Given the description of an element on the screen output the (x, y) to click on. 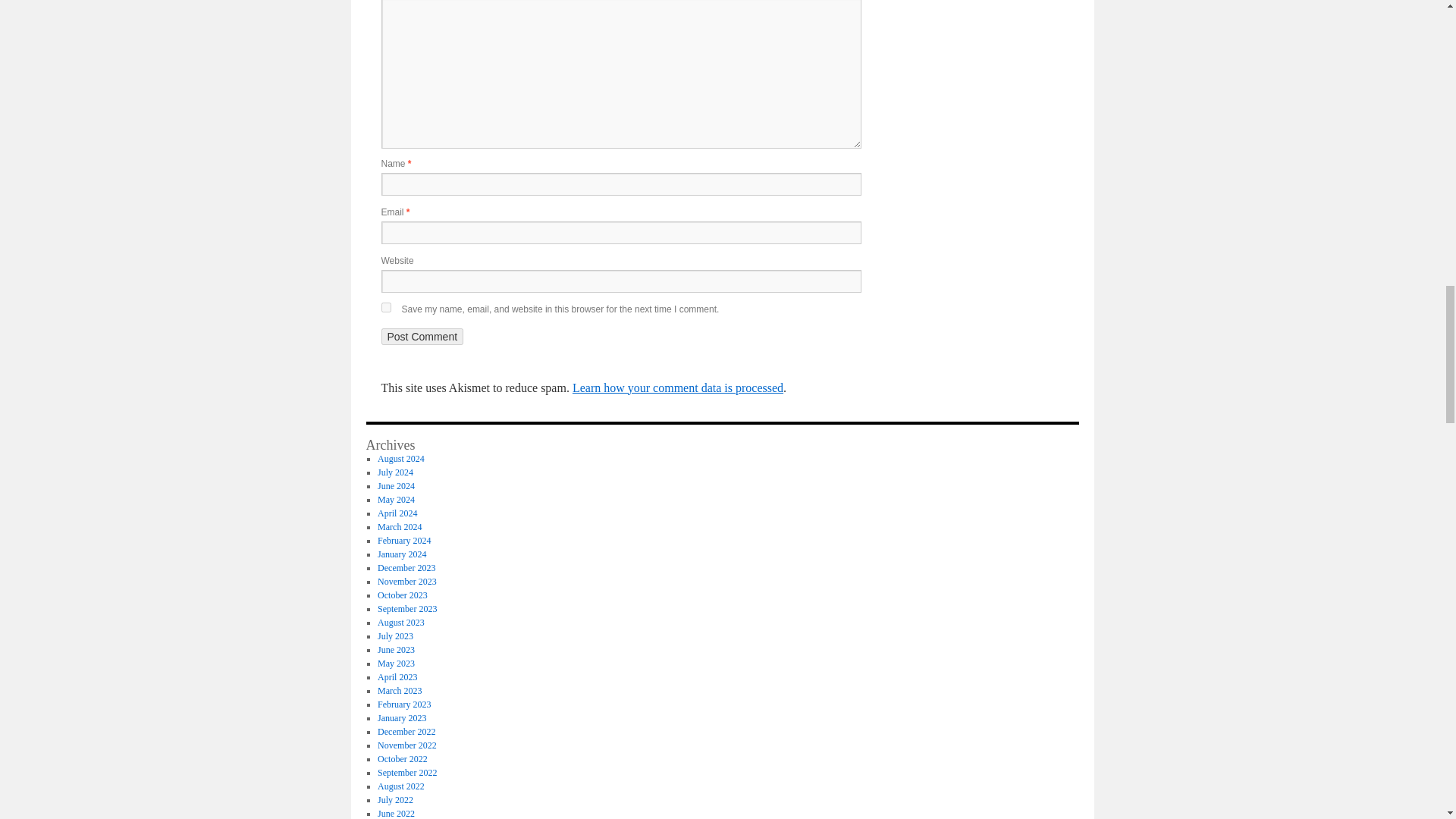
Learn how your comment data is processed (677, 387)
Post Comment (421, 336)
Post Comment (421, 336)
yes (385, 307)
